Given the description of an element on the screen output the (x, y) to click on. 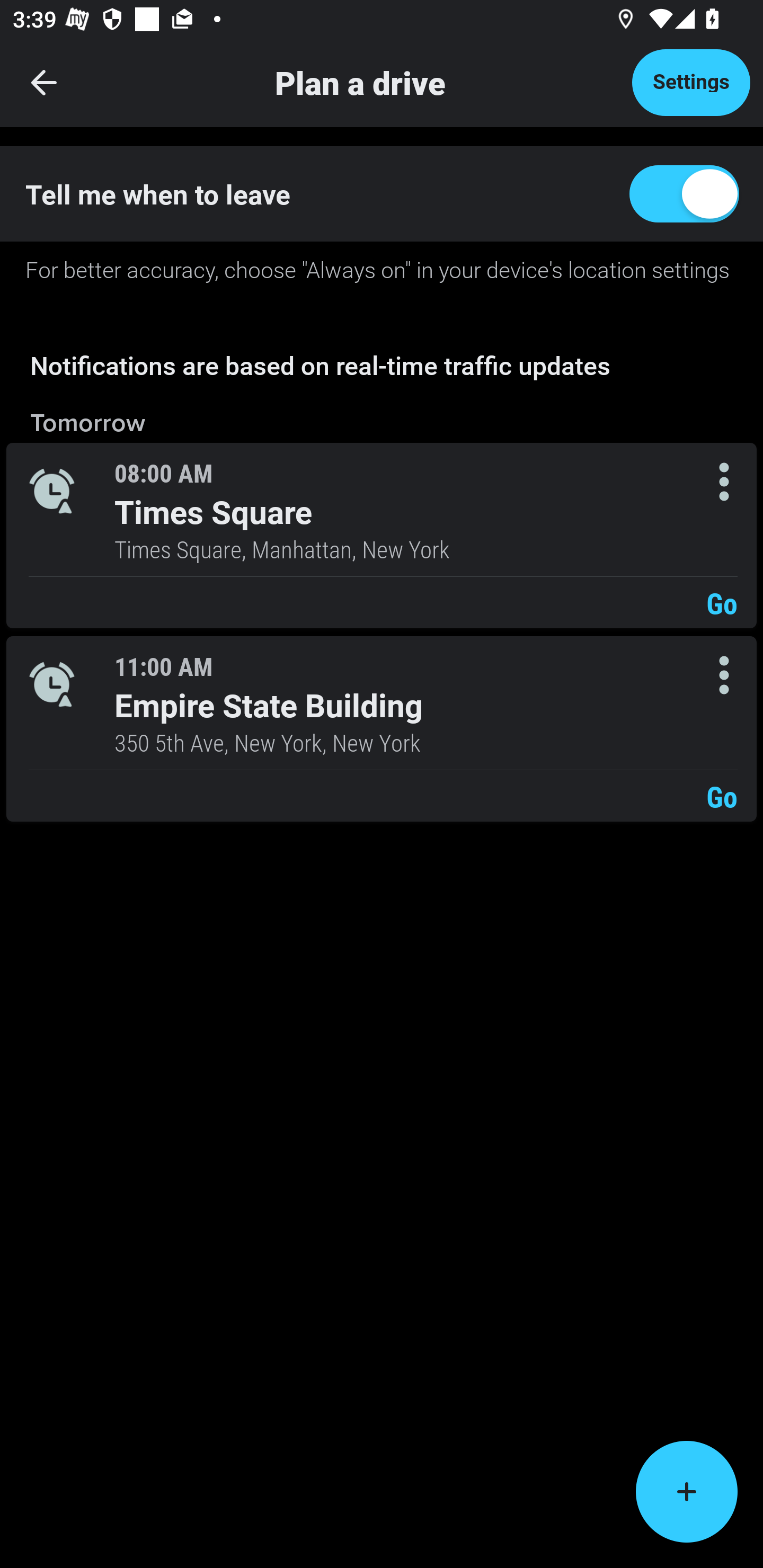
Settings (690, 82)
test View profile (381, 266)
